Given the description of an element on the screen output the (x, y) to click on. 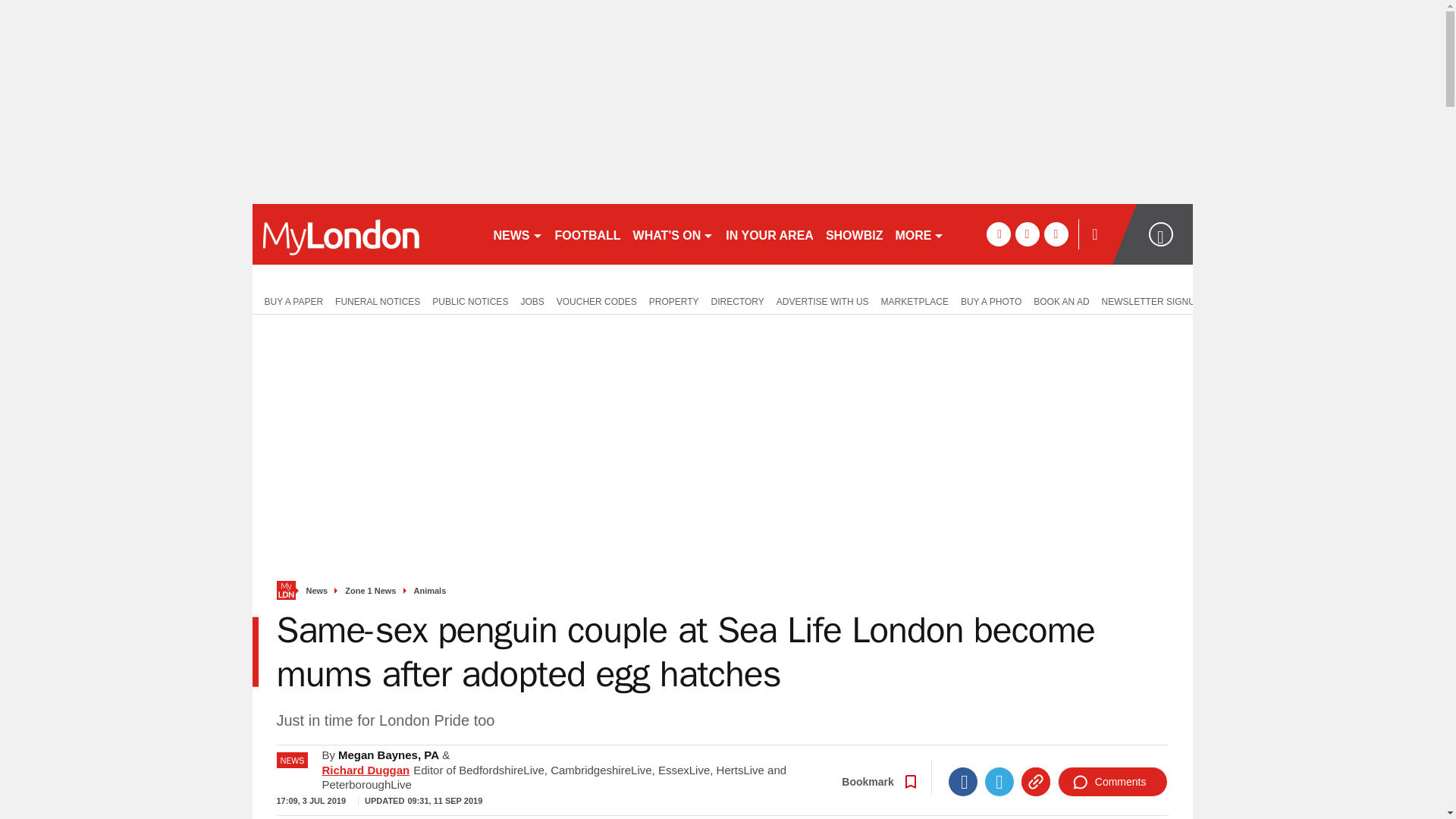
IN YOUR AREA (769, 233)
WHAT'S ON (673, 233)
SHOWBIZ (854, 233)
FOOTBALL (587, 233)
instagram (1055, 233)
MORE (919, 233)
Comments (1112, 781)
facebook (997, 233)
NEWS (517, 233)
getwestlondon (365, 233)
